Given the description of an element on the screen output the (x, y) to click on. 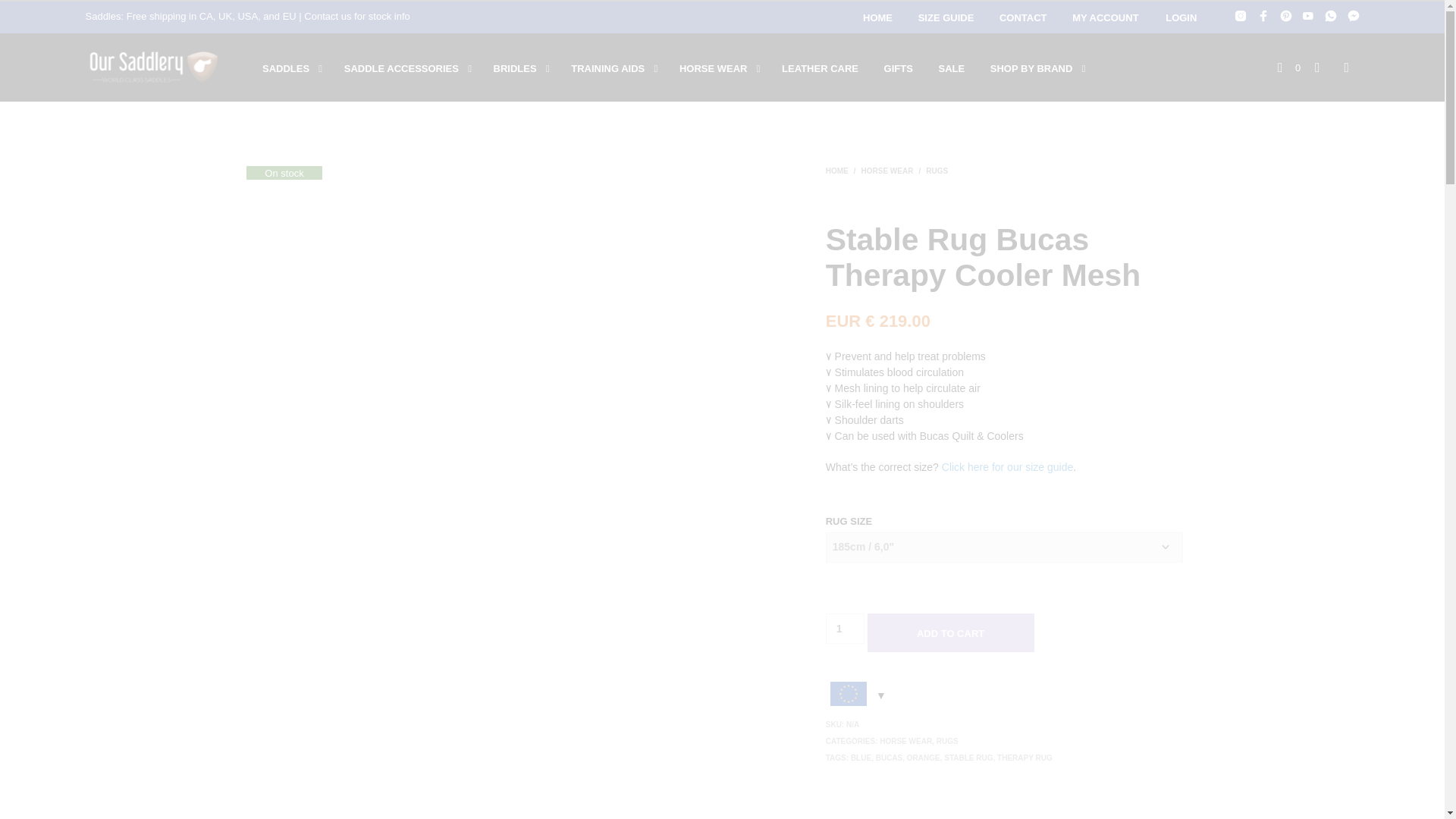
Qty (844, 628)
1 (844, 628)
World Class Saddles (154, 67)
